Given the description of an element on the screen output the (x, y) to click on. 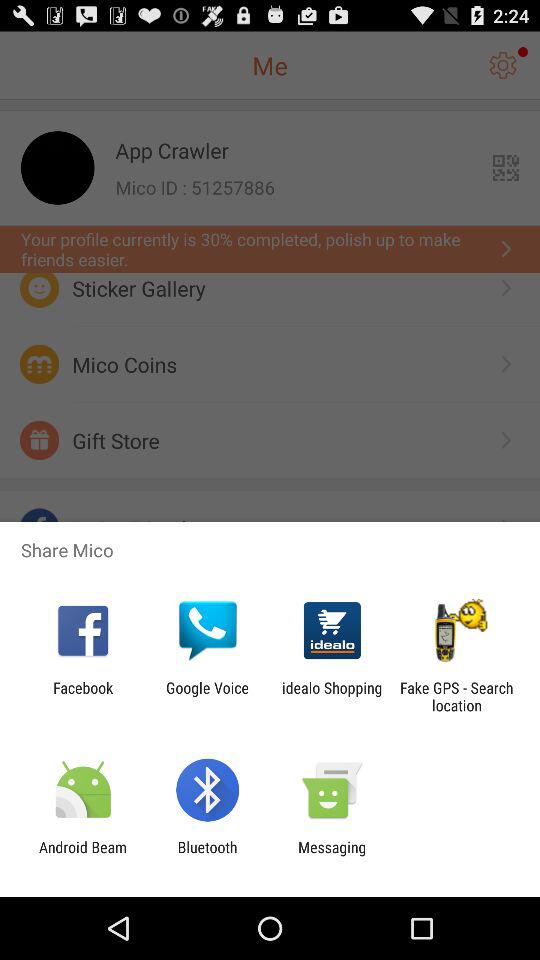
click the android beam item (83, 856)
